Given the description of an element on the screen output the (x, y) to click on. 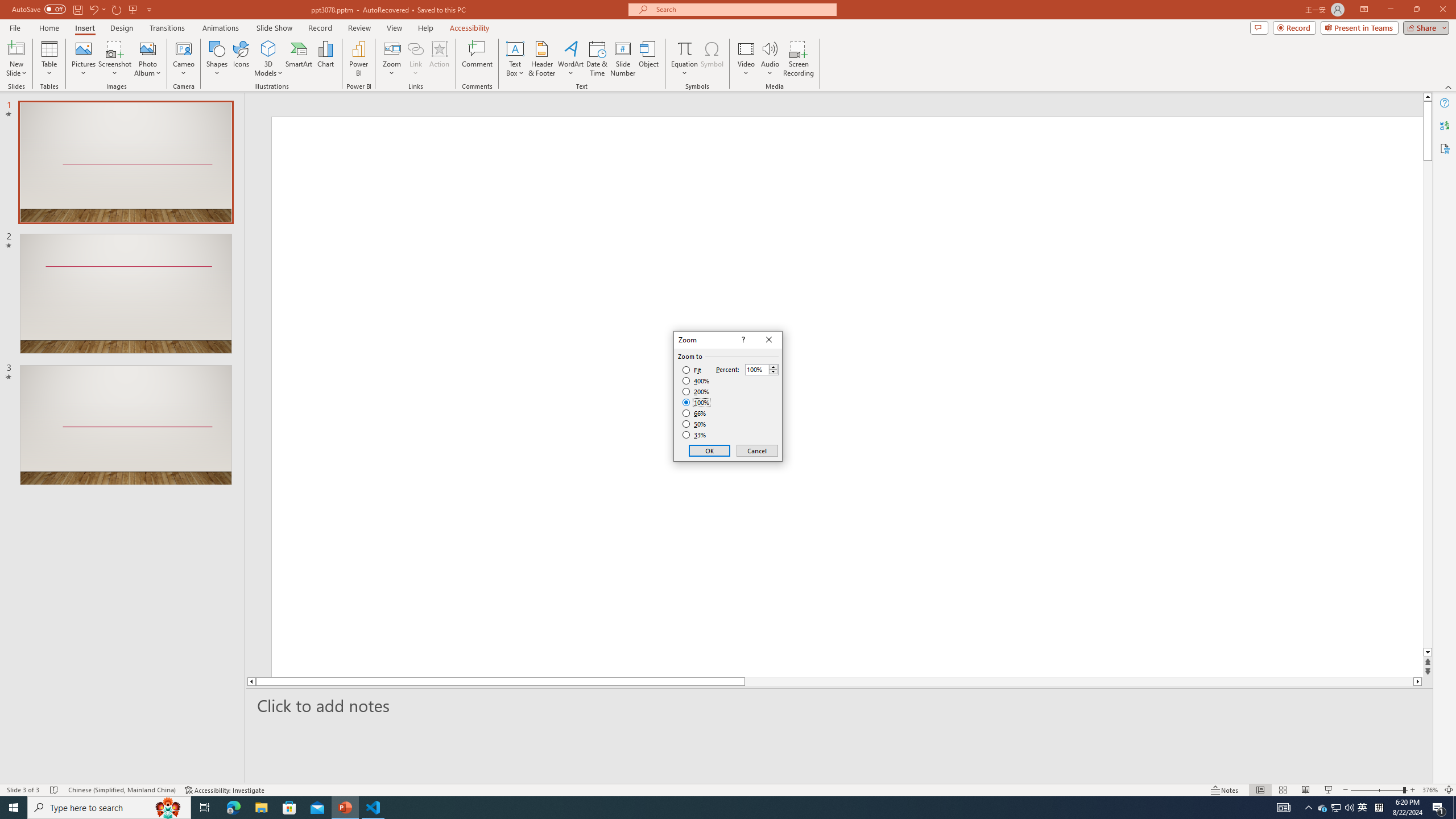
Symbol... (711, 58)
Action (439, 58)
Icons (240, 58)
Video (745, 58)
Photo Album... (147, 58)
